Given the description of an element on the screen output the (x, y) to click on. 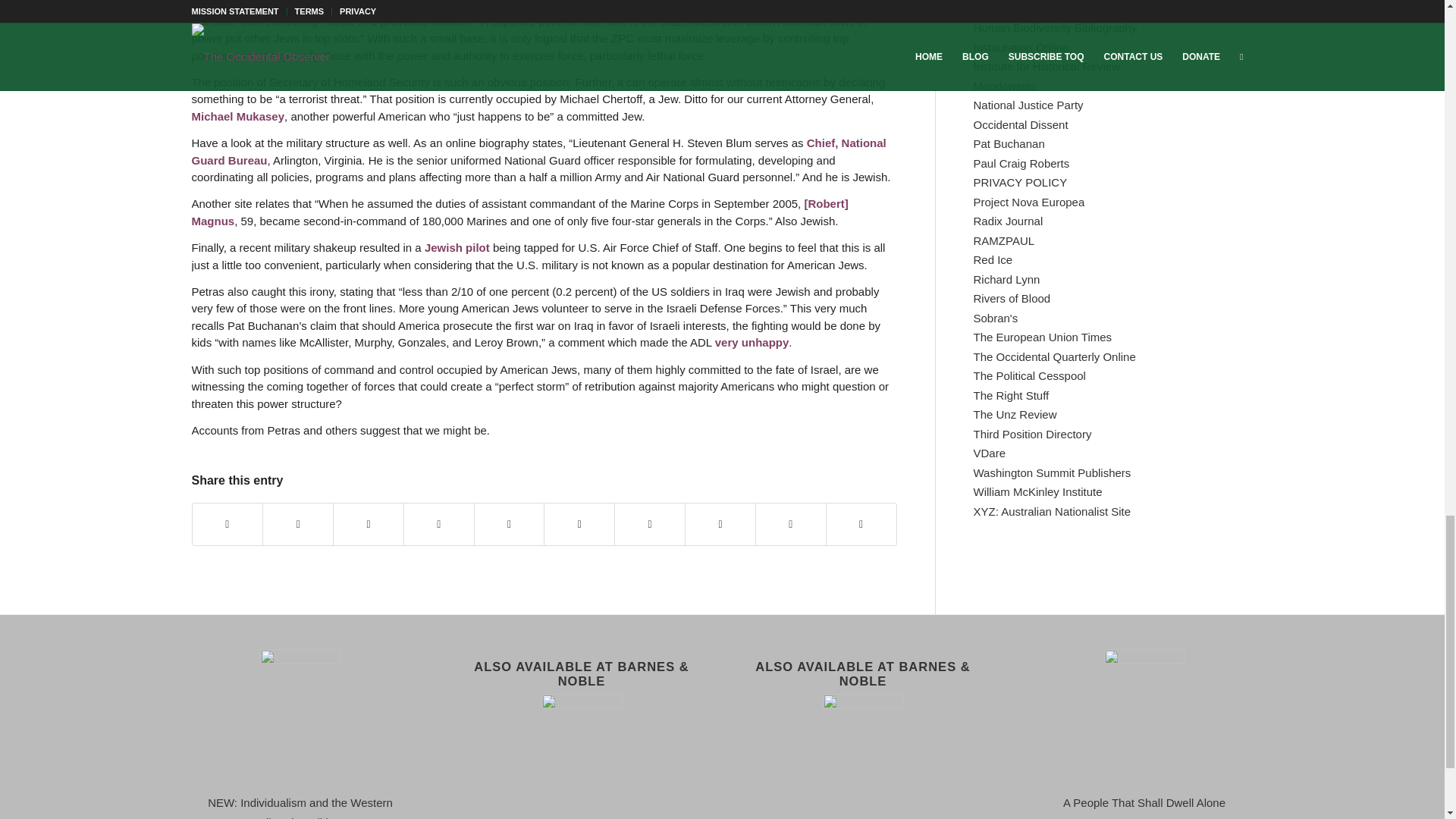
very unhappy (751, 341)
Chief, National Guard Bureau (537, 151)
Michael Mukasey (236, 115)
Jewish pilot (457, 246)
previous column (425, 21)
